Given the description of an element on the screen output the (x, y) to click on. 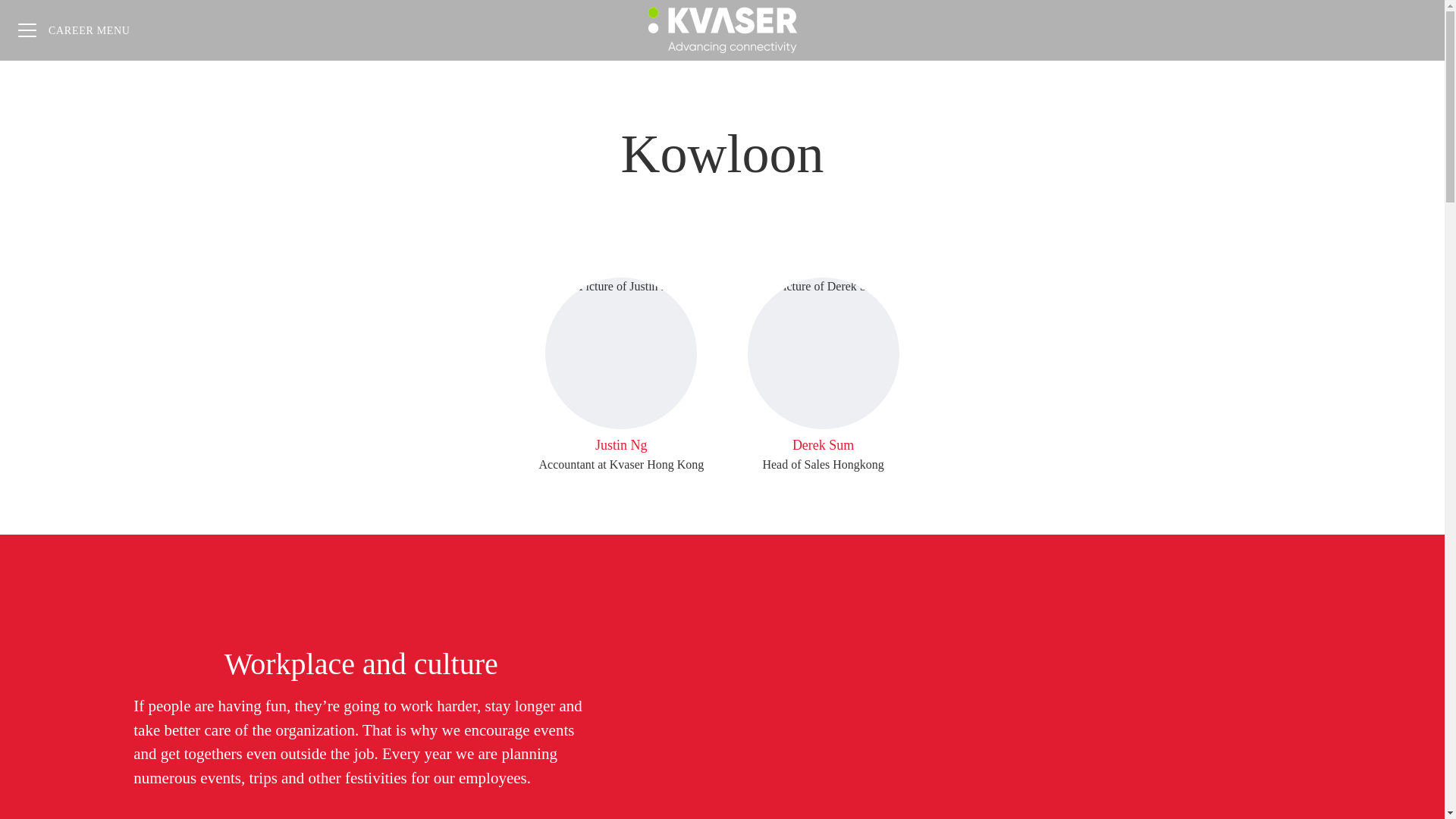
Share page (1414, 30)
CAREER MENU (73, 30)
Career menu (620, 375)
